Given the description of an element on the screen output the (x, y) to click on. 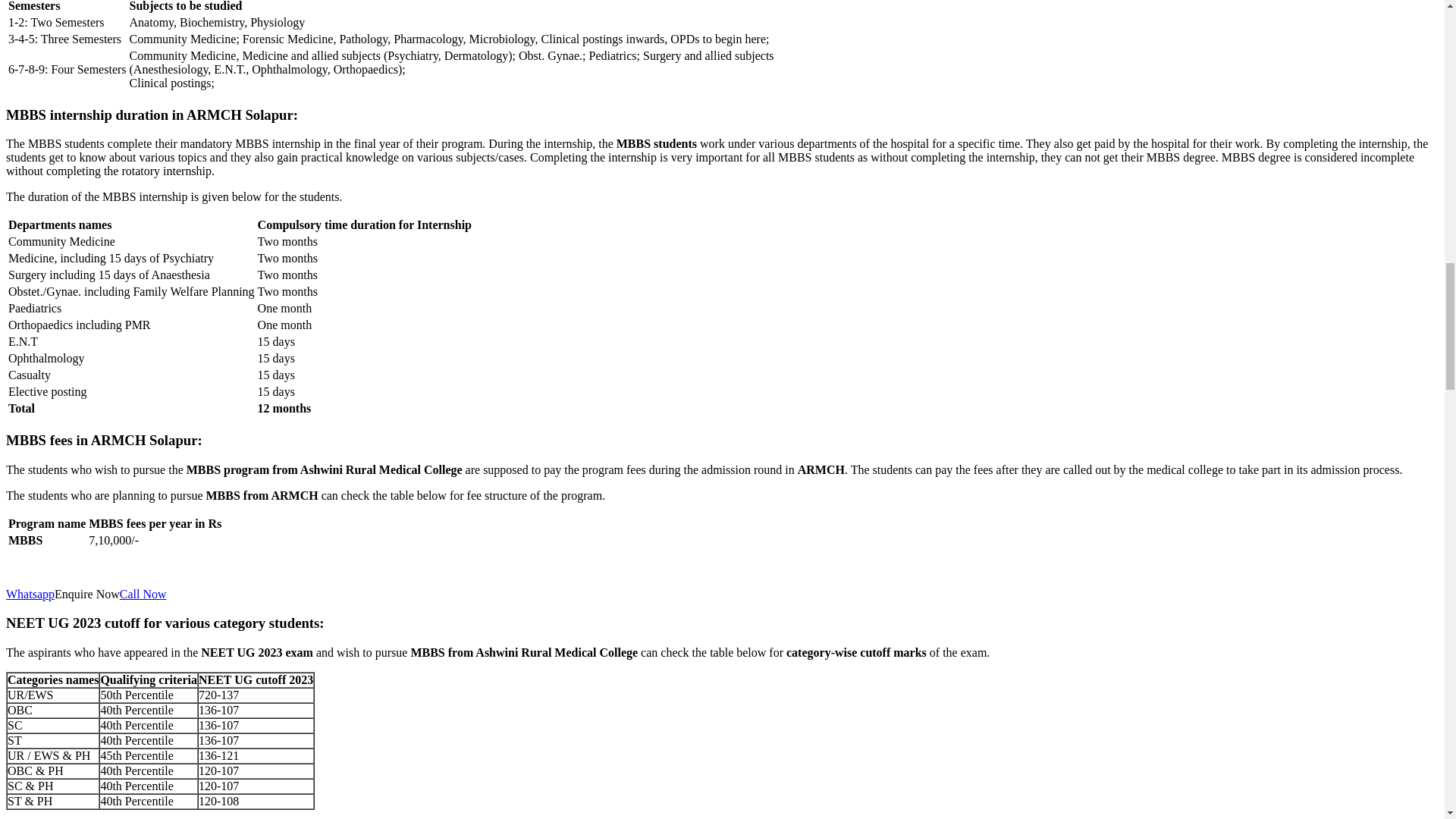
Enquire Now (87, 594)
Call Now (143, 594)
Whatsapp (30, 594)
